Given the description of an element on the screen output the (x, y) to click on. 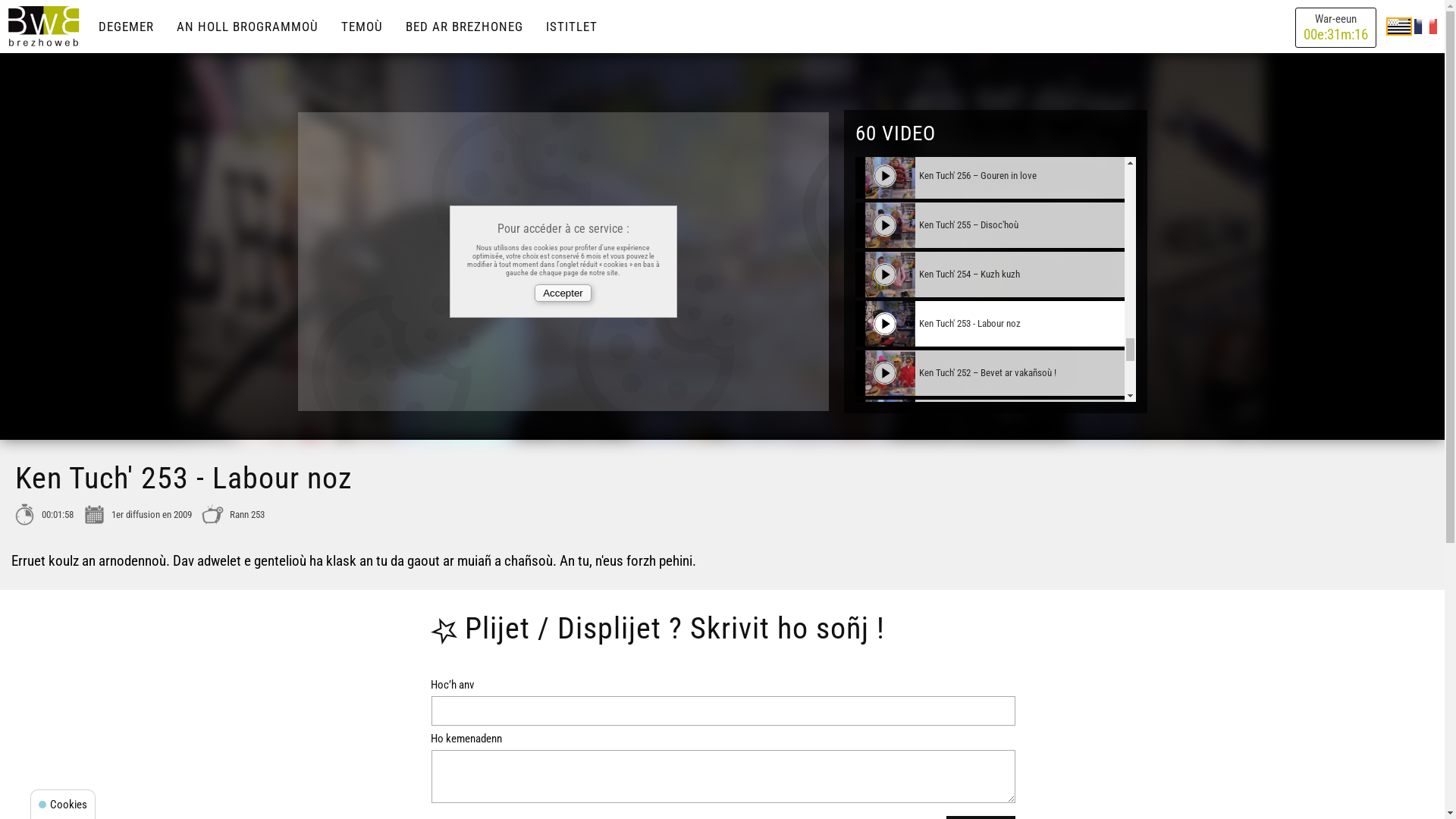
War-eeun
00e:31m:20 Element type: text (1335, 27)
Brezhoweb Element type: hover (43, 26)
BED AR BREZHONEG Element type: text (464, 26)
Voir le site en Francais Element type: hover (1425, 25)
DEGEMER Element type: text (126, 26)
Ken Tuch' 253 - Labour noz Element type: text (989, 323)
Accepter Element type: text (562, 292)
